Given the description of an element on the screen output the (x, y) to click on. 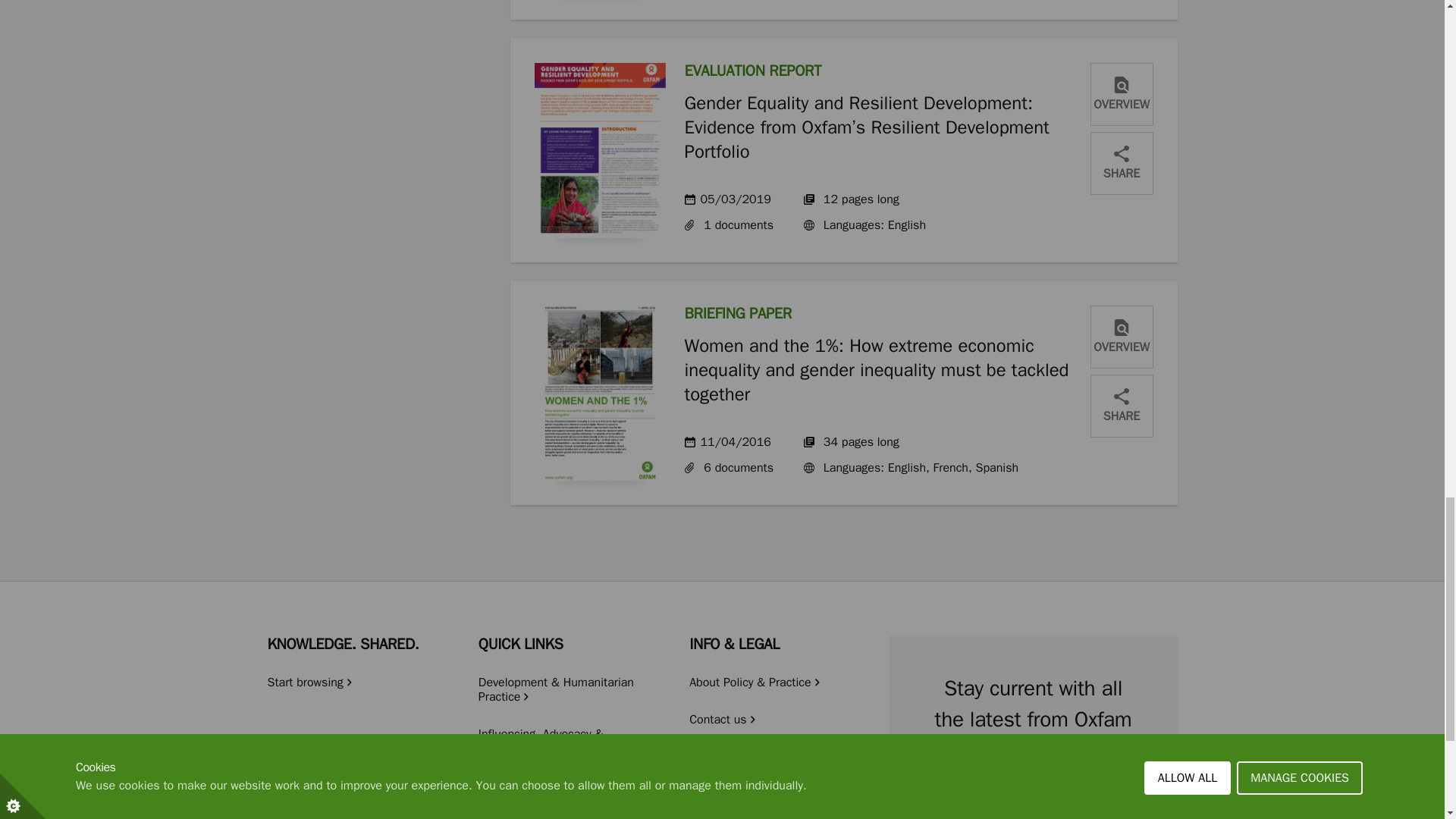
Get the newsletter (1032, 801)
